Given the description of an element on the screen output the (x, y) to click on. 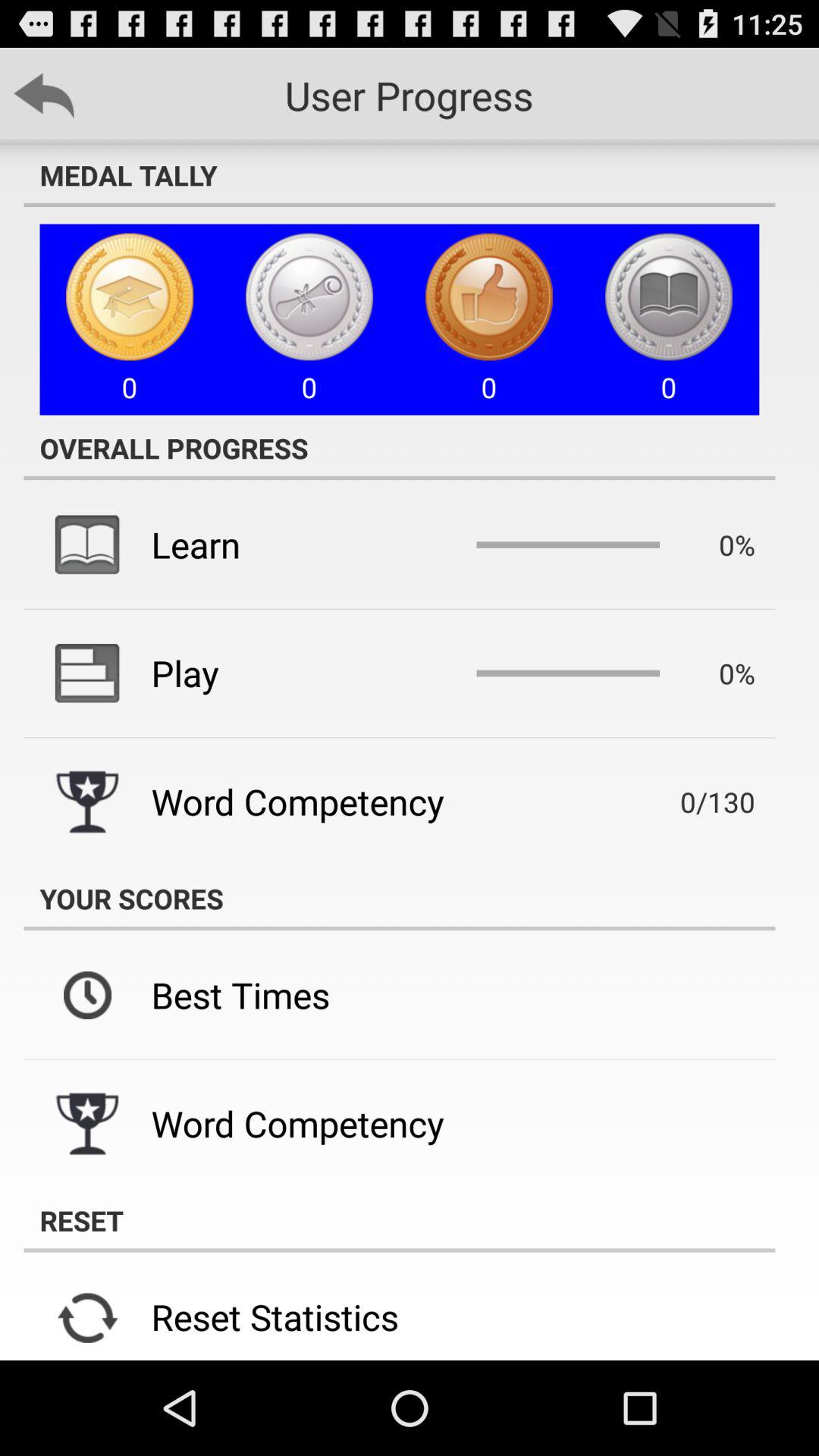
tap the overall progress app (399, 448)
